Given the description of an element on the screen output the (x, y) to click on. 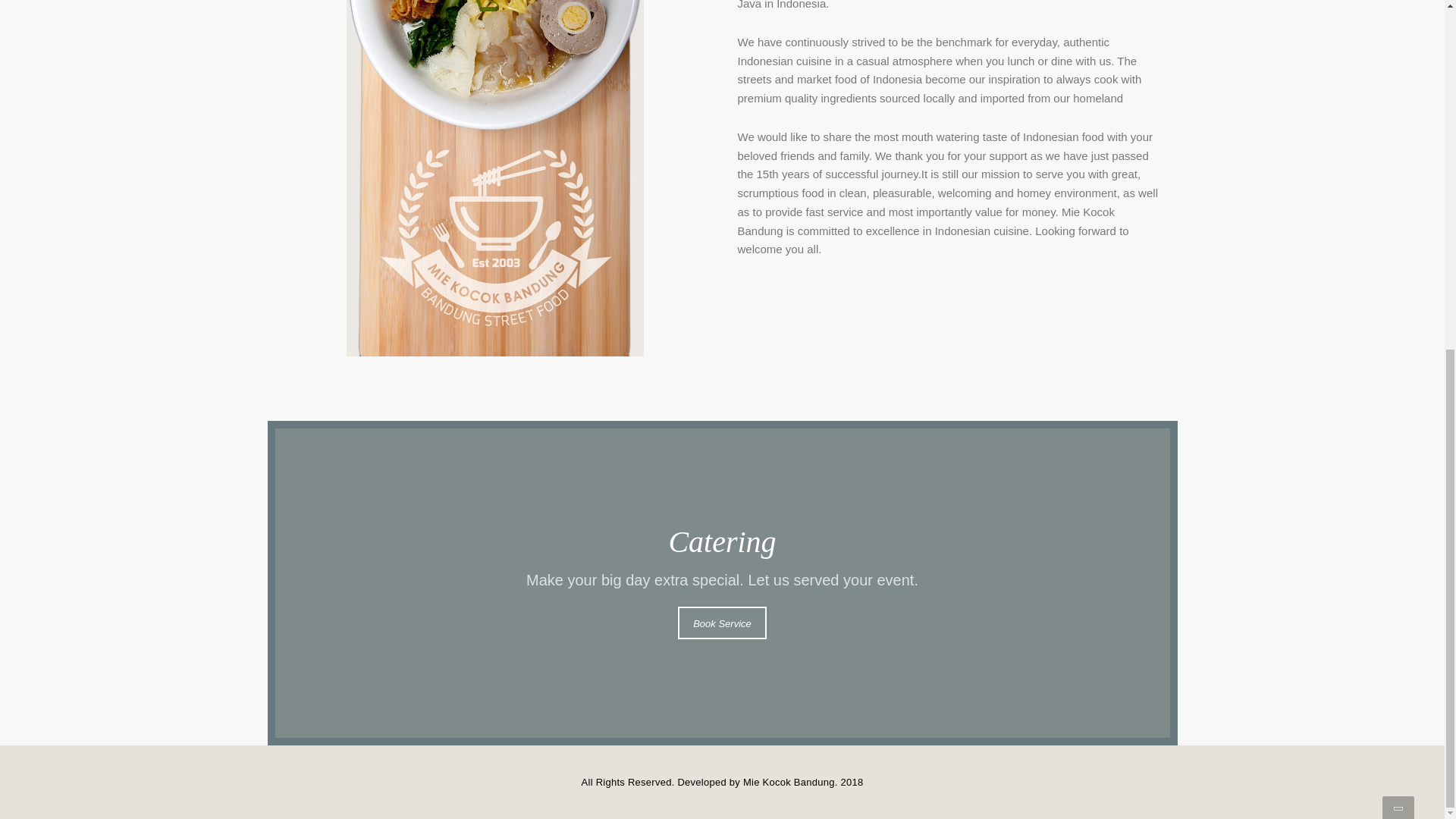
Book Service (722, 622)
